Given the description of an element on the screen output the (x, y) to click on. 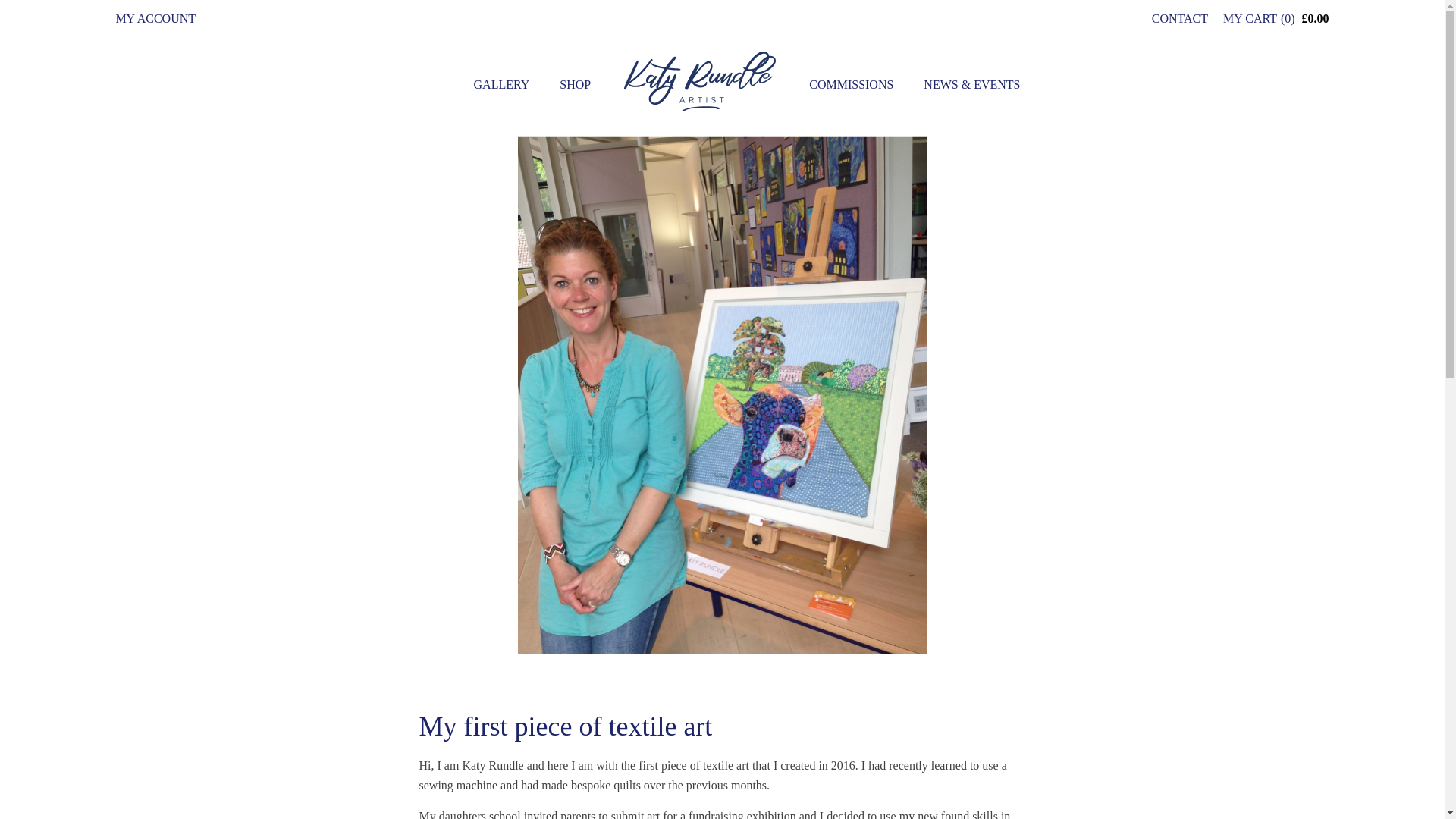
MY ACCOUNT (155, 18)
COMMISSIONS (850, 84)
CONTACT (1187, 18)
SHOP (574, 84)
GALLERY (501, 84)
